Given the description of an element on the screen output the (x, y) to click on. 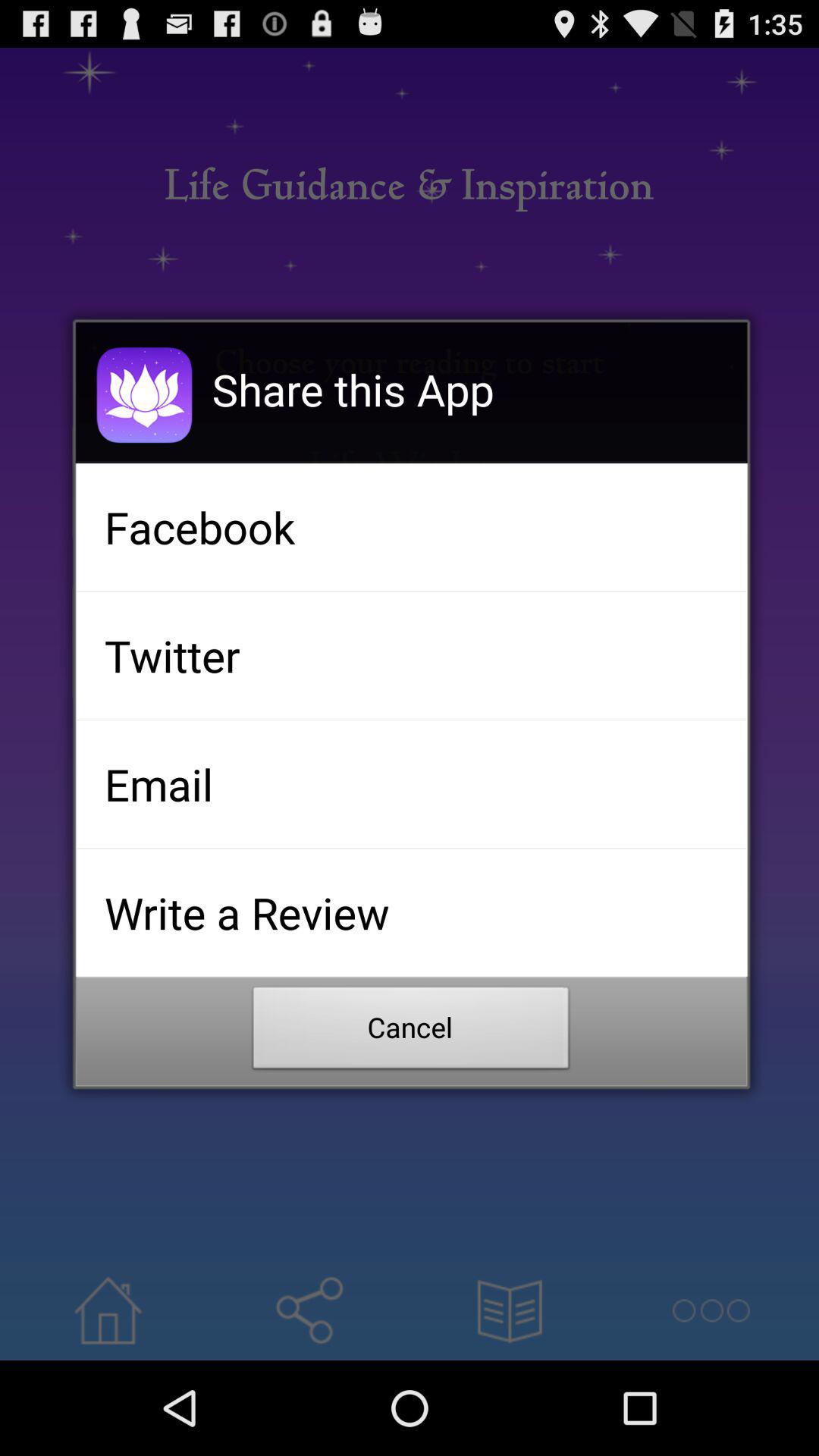
scroll to the cancel (410, 1032)
